Given the description of an element on the screen output the (x, y) to click on. 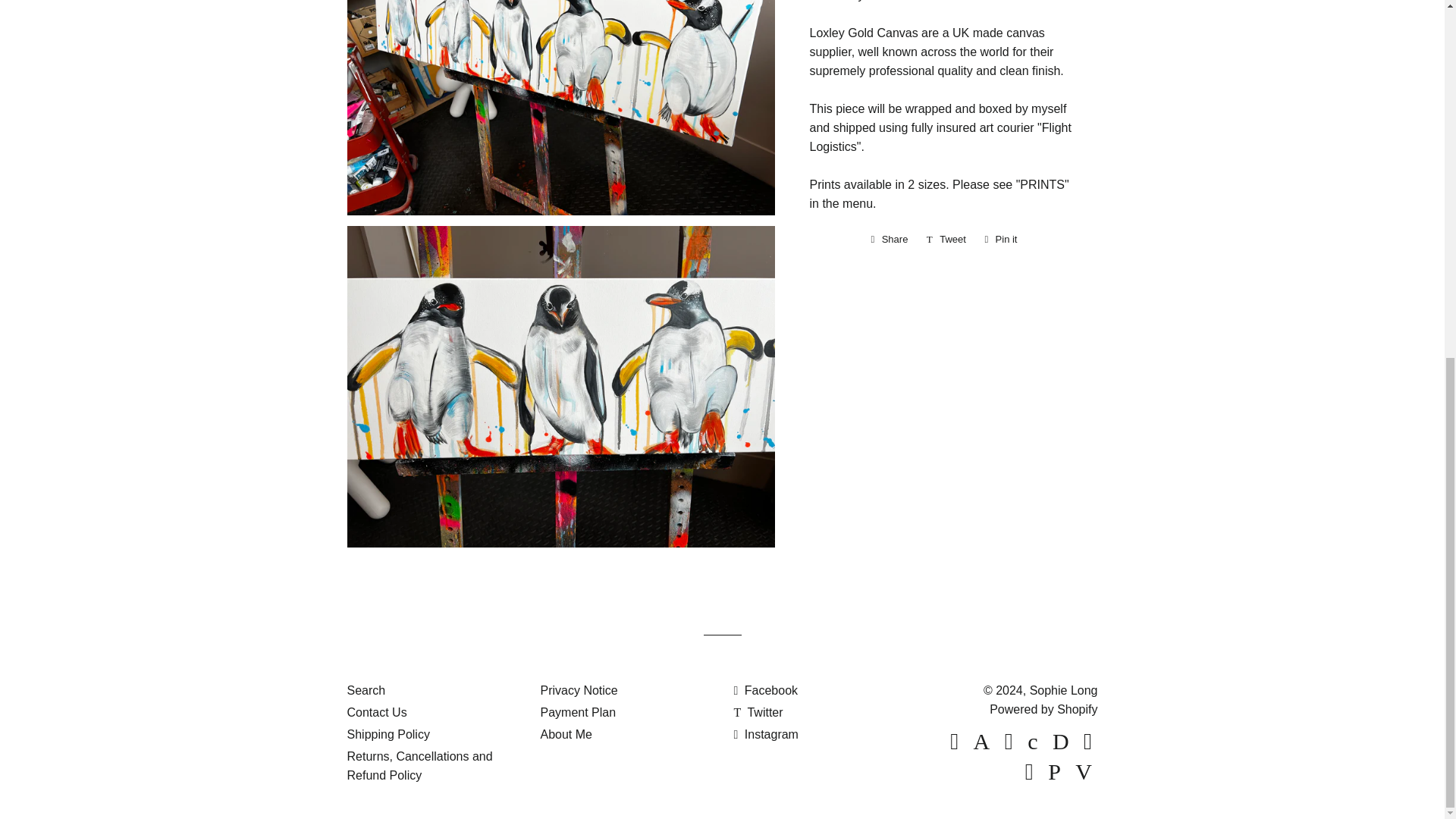
Share on Facebook (889, 239)
Pin on Pinterest (1000, 239)
Sophie Long  on Twitter (946, 239)
Sophie Long  on Facebook (758, 712)
Sophie Long  on Instagram (765, 689)
Tweet on Twitter (765, 734)
